Given the description of an element on the screen output the (x, y) to click on. 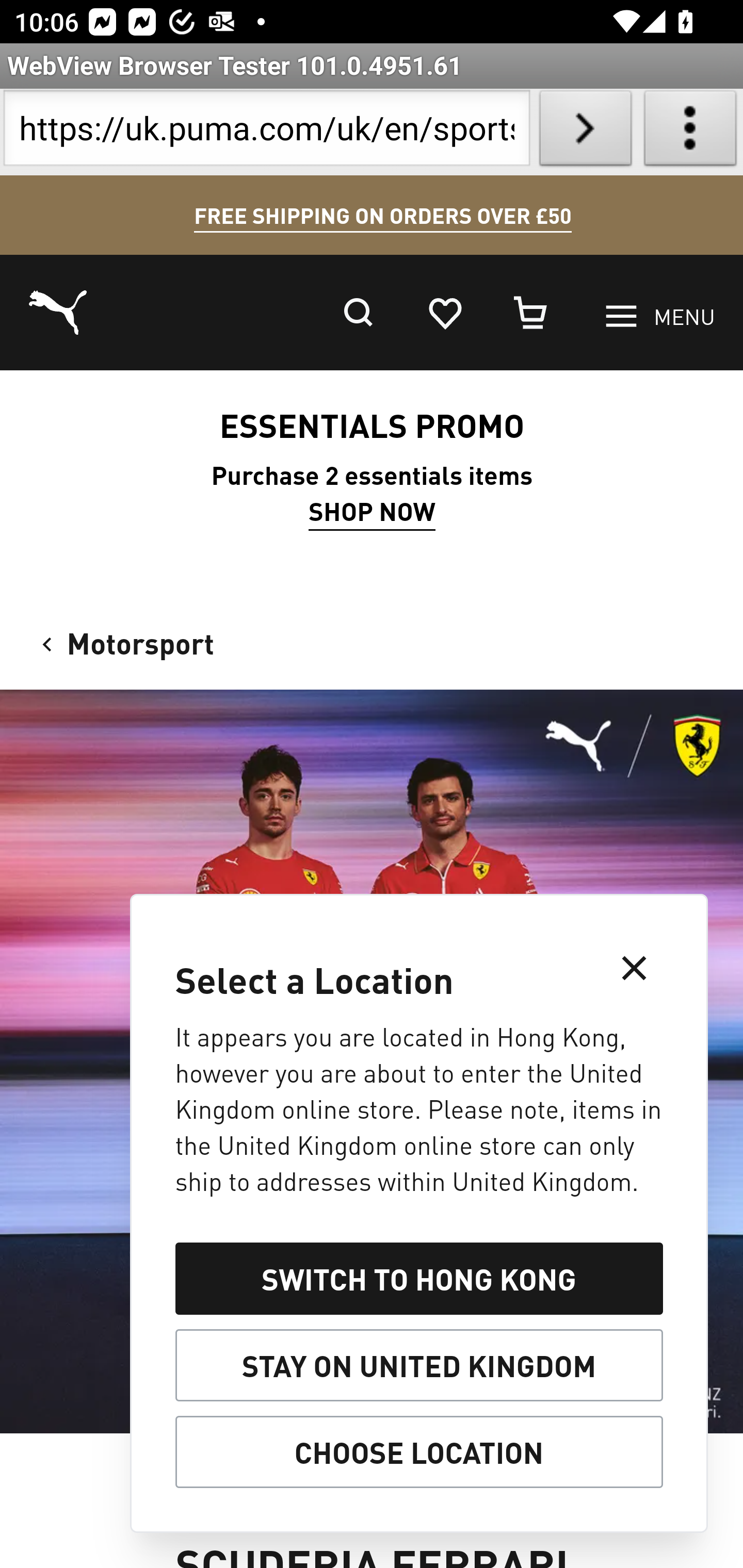
Load URL (585, 132)
About WebView (690, 132)
FREE SHIPPING ON ORDERS OVER £50 (382, 216)
SEARCH (358, 312)
SHOPPING CART 0 (531, 312)
PUMA.com (58, 313)
MENU (659, 316)
SHOP NOW (371, 511)
Motorsport (124, 641)
Close (633, 967)
SWITCH TO HONG KONG (418, 1277)
STAY ON UNITED KINGDOM (418, 1364)
CHOOSE LOCATION (418, 1451)
